Given the description of an element on the screen output the (x, y) to click on. 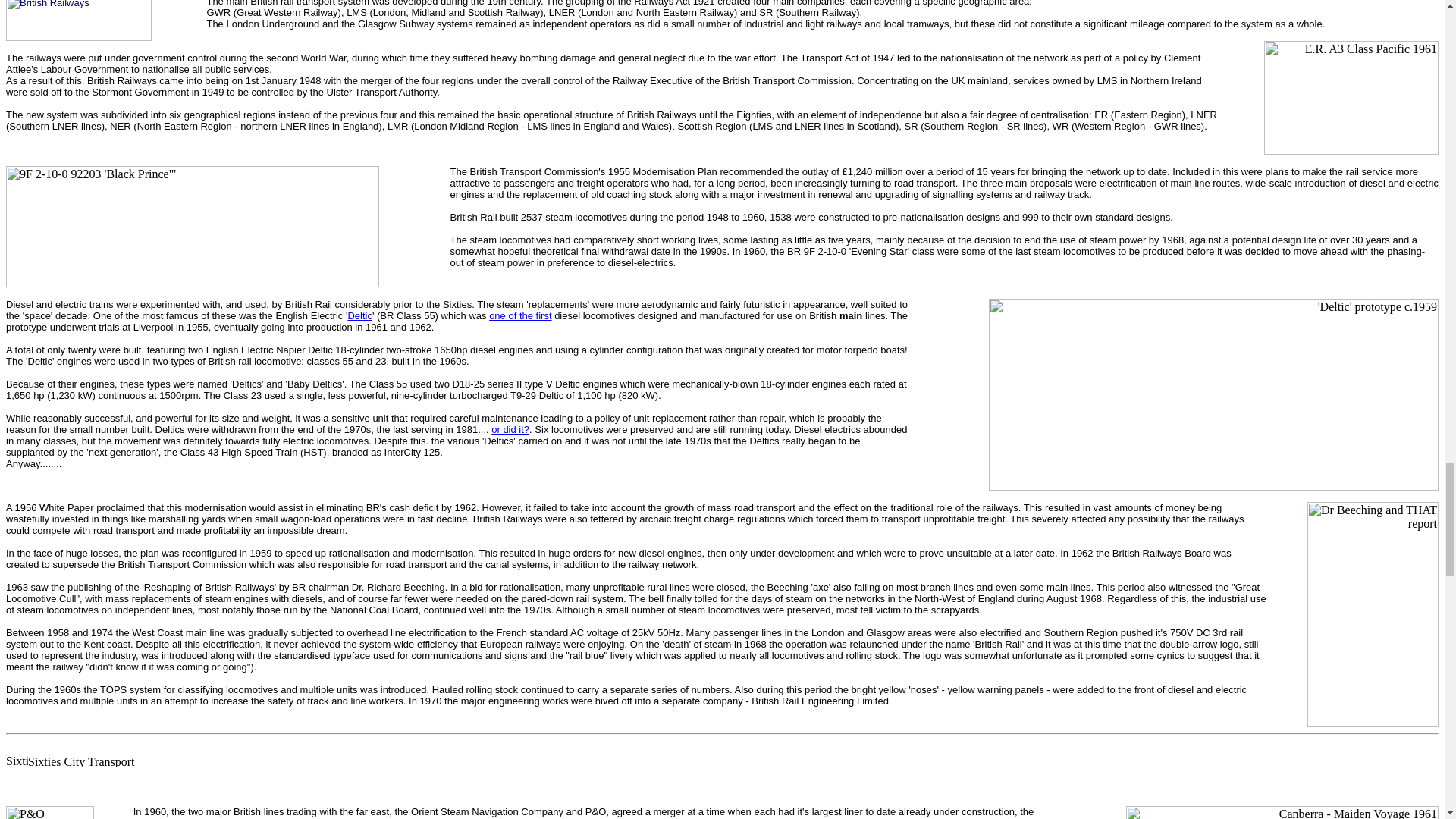
one of the first (520, 315)
Deltic (359, 315)
